Given the description of an element on the screen output the (x, y) to click on. 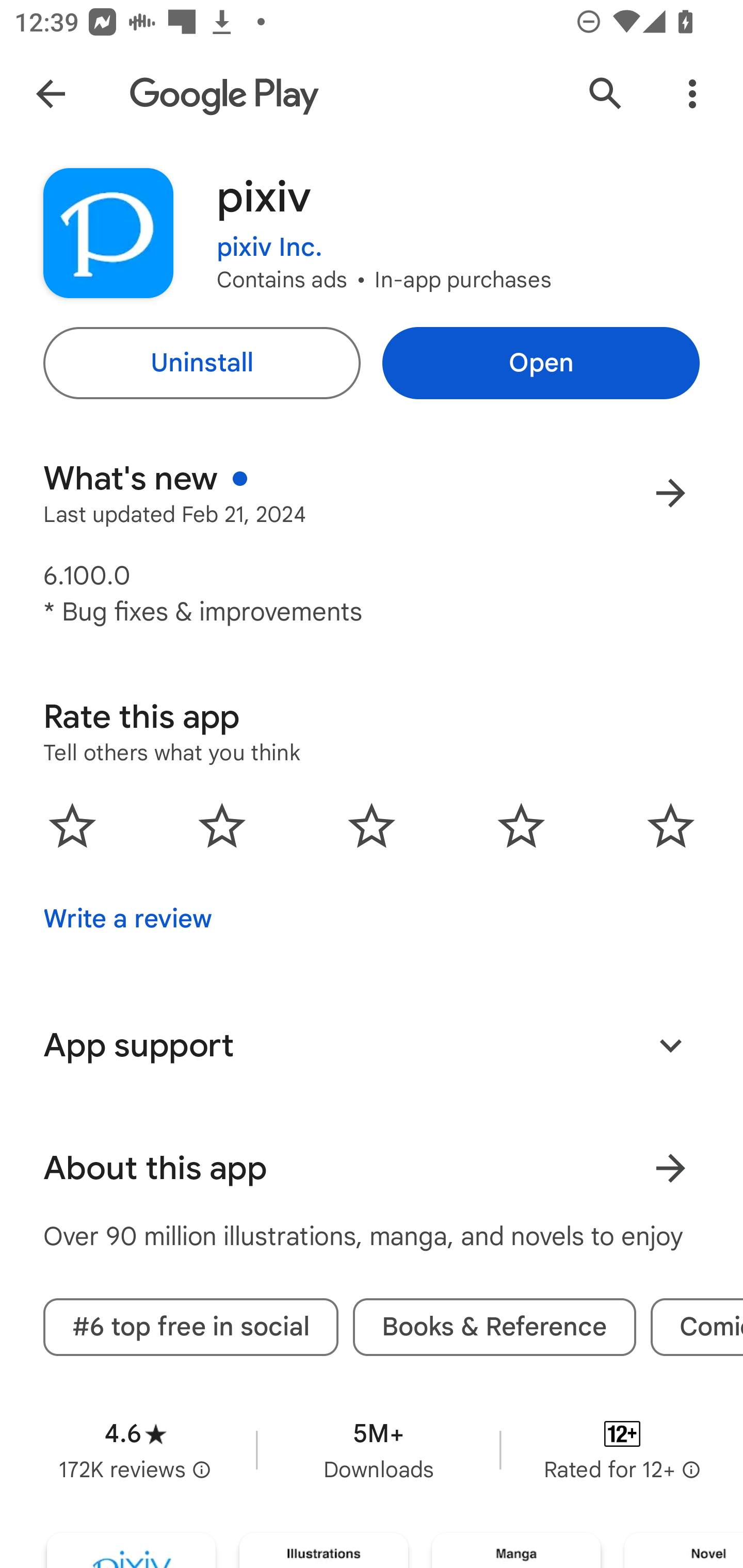
Navigate up (50, 93)
Search Google Play (605, 93)
More Options (692, 93)
pixiv Inc. (269, 233)
Uninstall (201, 362)
Open (540, 362)
More results for What's new (670, 493)
0.0 (371, 825)
Write a review (127, 919)
App support Expand (371, 1045)
Expand (670, 1044)
About this app Learn more About this app (371, 1167)
Learn more About this app (670, 1168)
#6 top free in social tag (190, 1327)
Books & Reference tag (494, 1327)
Average rating 4.6 stars in 172 thousand reviews (135, 1450)
Content rating Rated for 12+ (622, 1450)
